Given the description of an element on the screen output the (x, y) to click on. 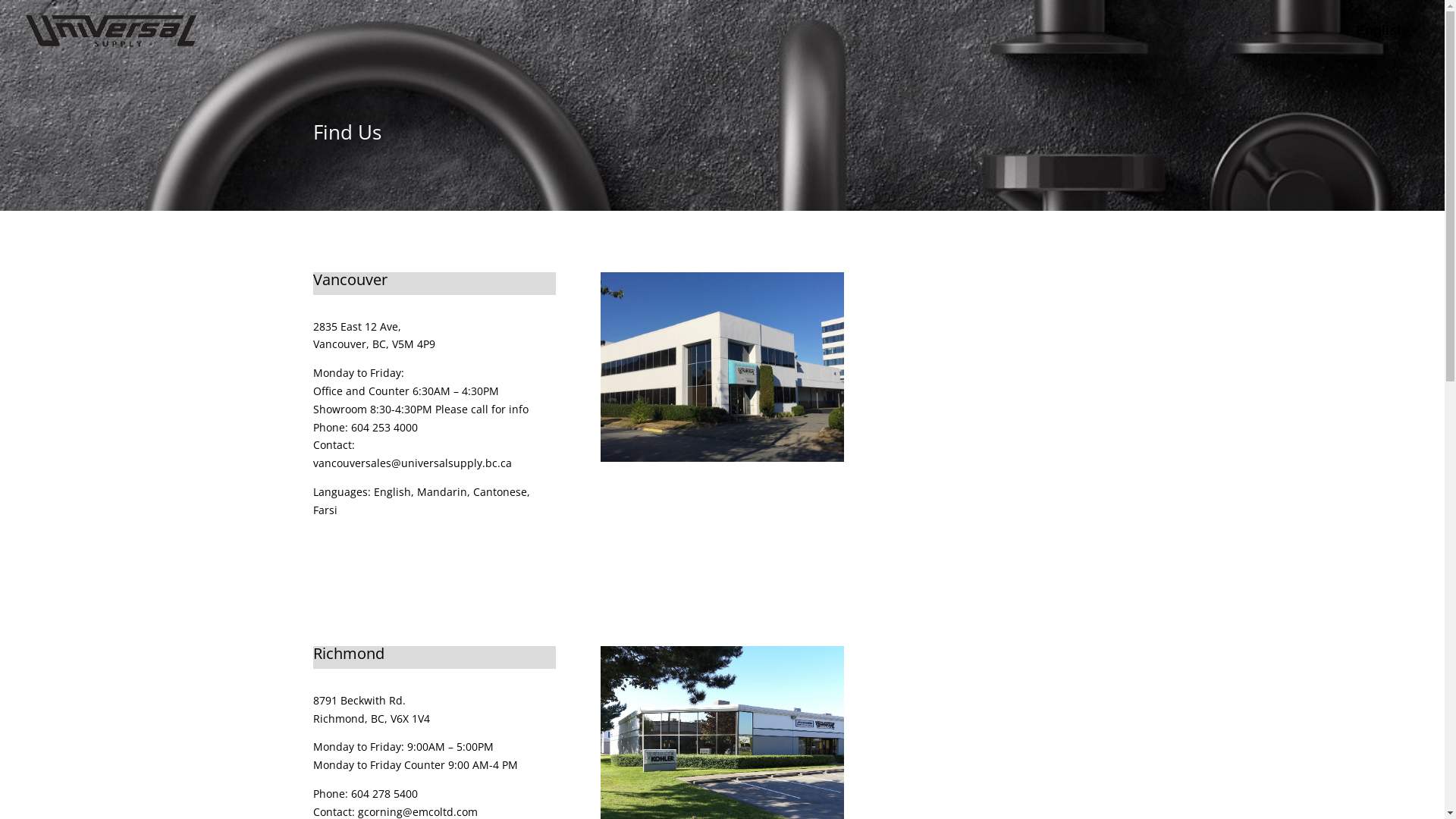
604 253 4000 Element type: text (383, 427)
English Element type: text (1387, 42)
604 278 5400 Element type: text (383, 793)
vancouversales@universalsupply.bc.ca Element type: text (411, 462)
